Given the description of an element on the screen output the (x, y) to click on. 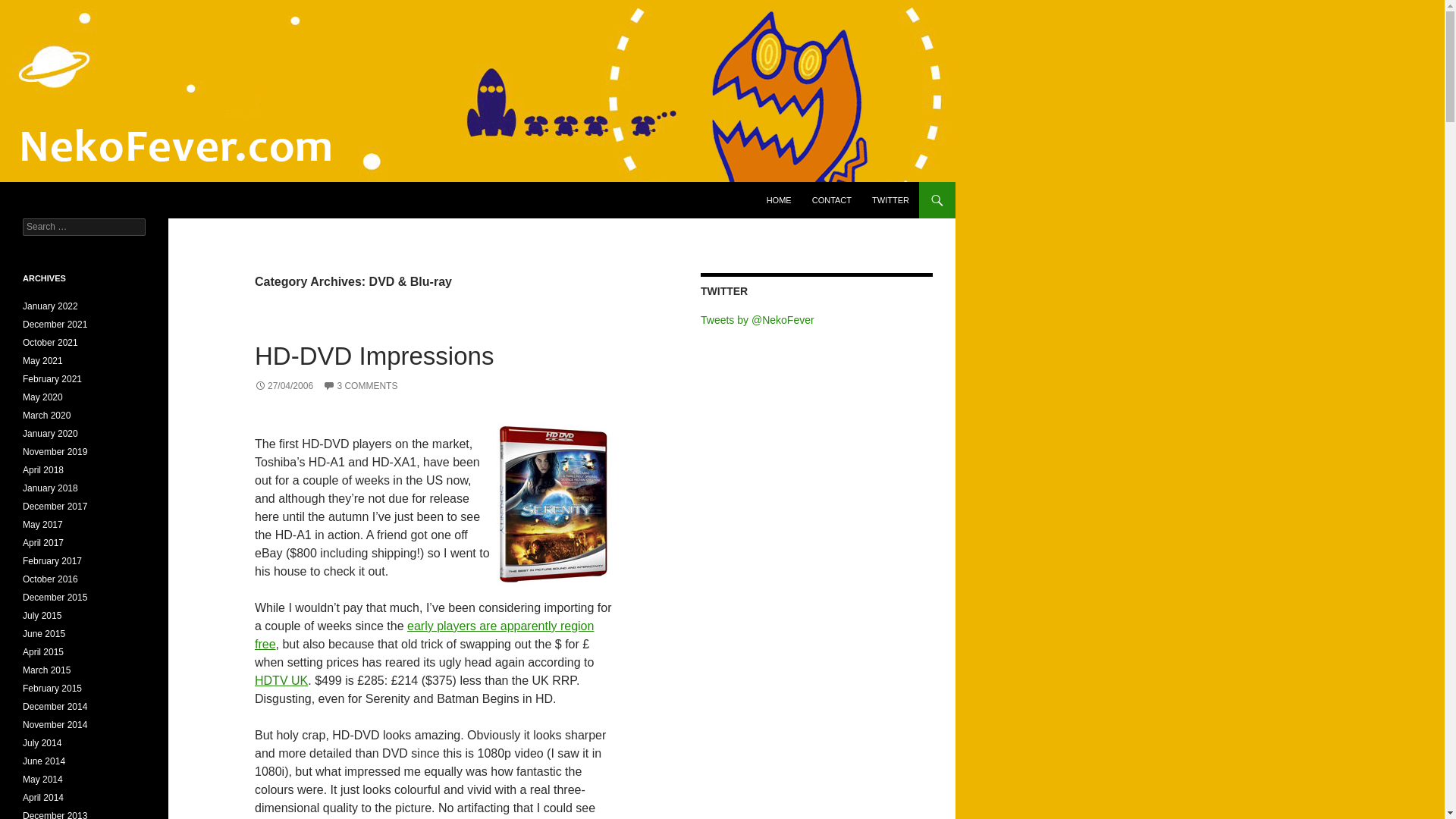
CONTACT (831, 199)
early players are apparently region free (424, 634)
HOME (778, 199)
TWITTER (890, 199)
NekoFever (58, 199)
HDTV UK (280, 680)
3 COMMENTS (360, 385)
HD-DVD Impressions (373, 356)
